Given the description of an element on the screen output the (x, y) to click on. 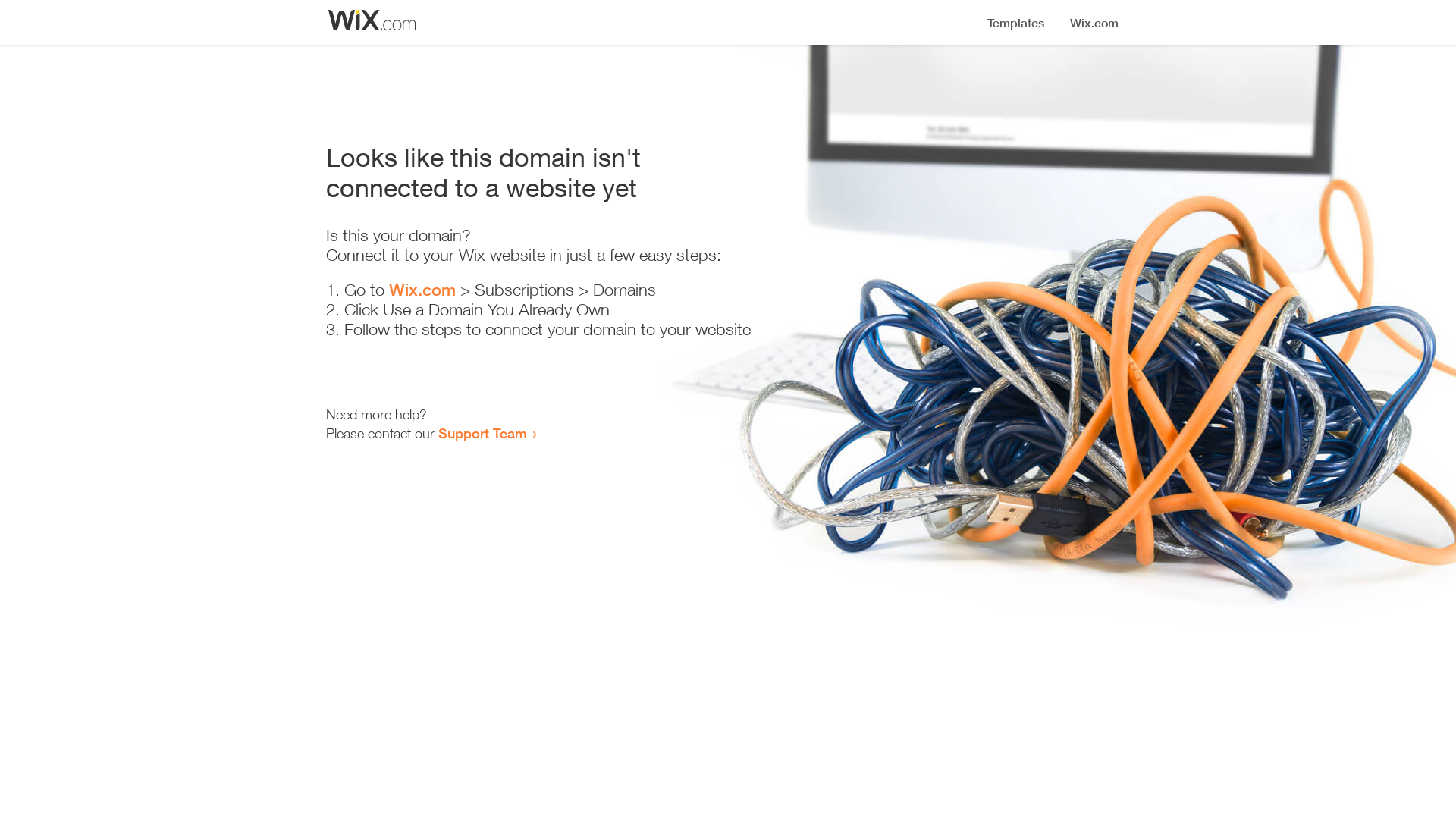
Wix.com Element type: text (422, 289)
Support Team Element type: text (482, 432)
